Given the description of an element on the screen output the (x, y) to click on. 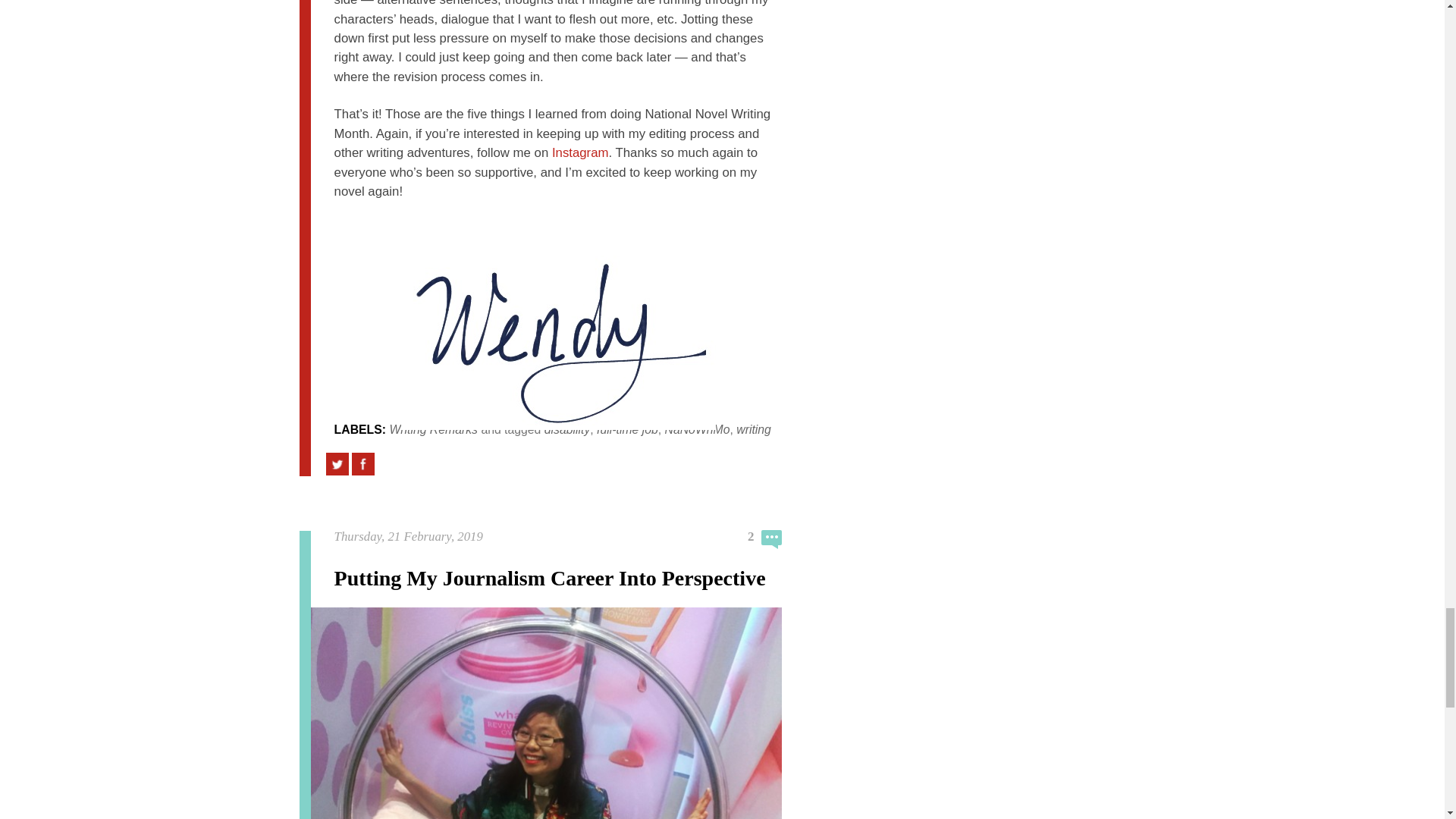
2 (765, 538)
writing life (552, 440)
NaNoWriMo (697, 429)
Putting My Journalism Career Into Perspective (549, 577)
full-time job (627, 429)
disability (567, 429)
Writing Remarks (432, 429)
Instagram (579, 152)
Share on Facebook (363, 463)
Share on Twitter (337, 463)
